Given the description of an element on the screen output the (x, y) to click on. 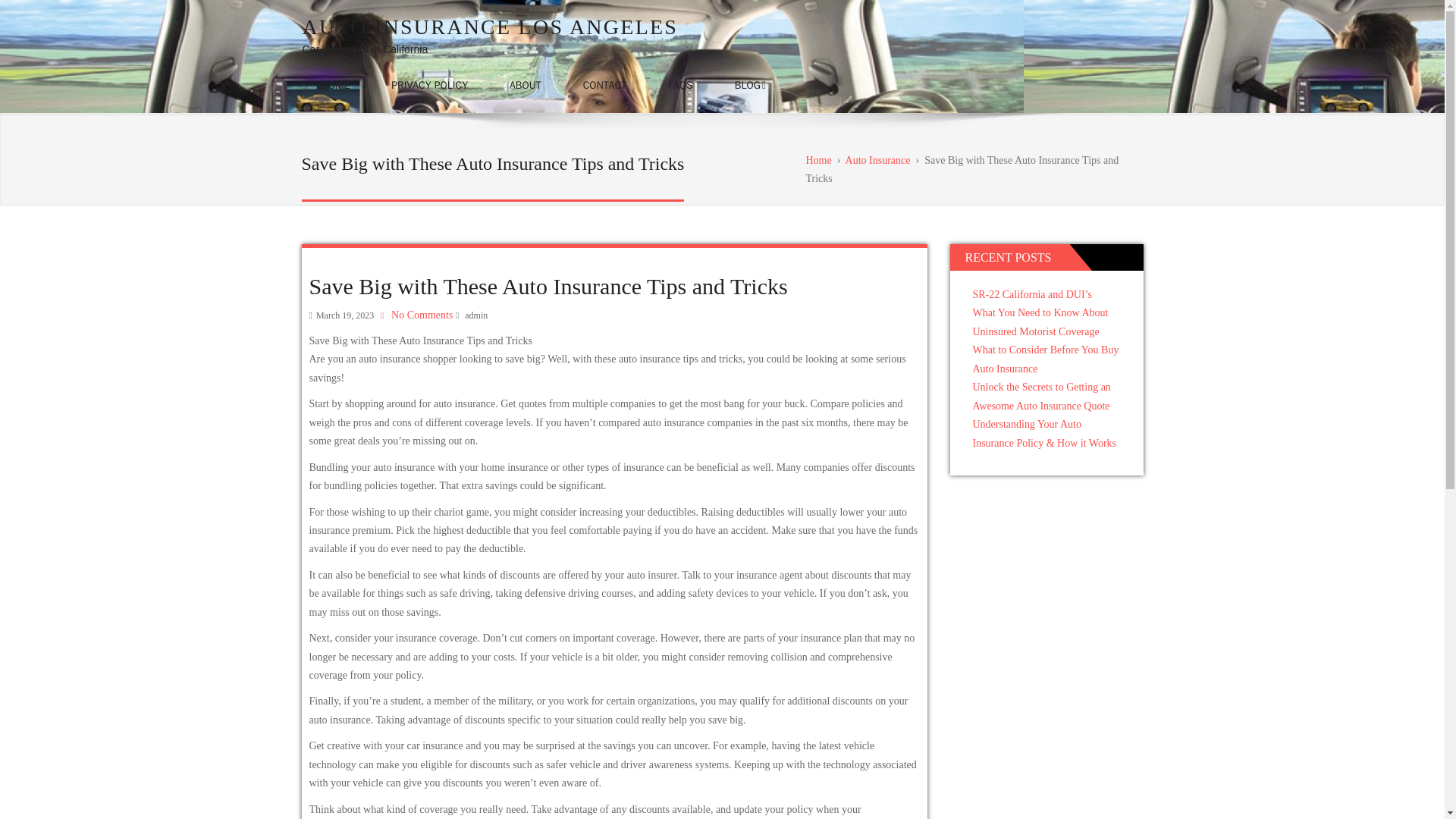
What You Need to Know About Uninsured Motorist Coverage (1040, 322)
Save Big with These Auto Insurance Tips and Tricks (547, 285)
Auto Insurance (878, 160)
PRIVACY POLICY (429, 85)
Home (818, 160)
March 19, 2023 (344, 314)
ABOUT (525, 85)
HOME (334, 85)
AUTO INSURANCE LOS ANGELES (489, 26)
What to Consider Before You Buy Auto Insurance (1045, 358)
